Given the description of an element on the screen output the (x, y) to click on. 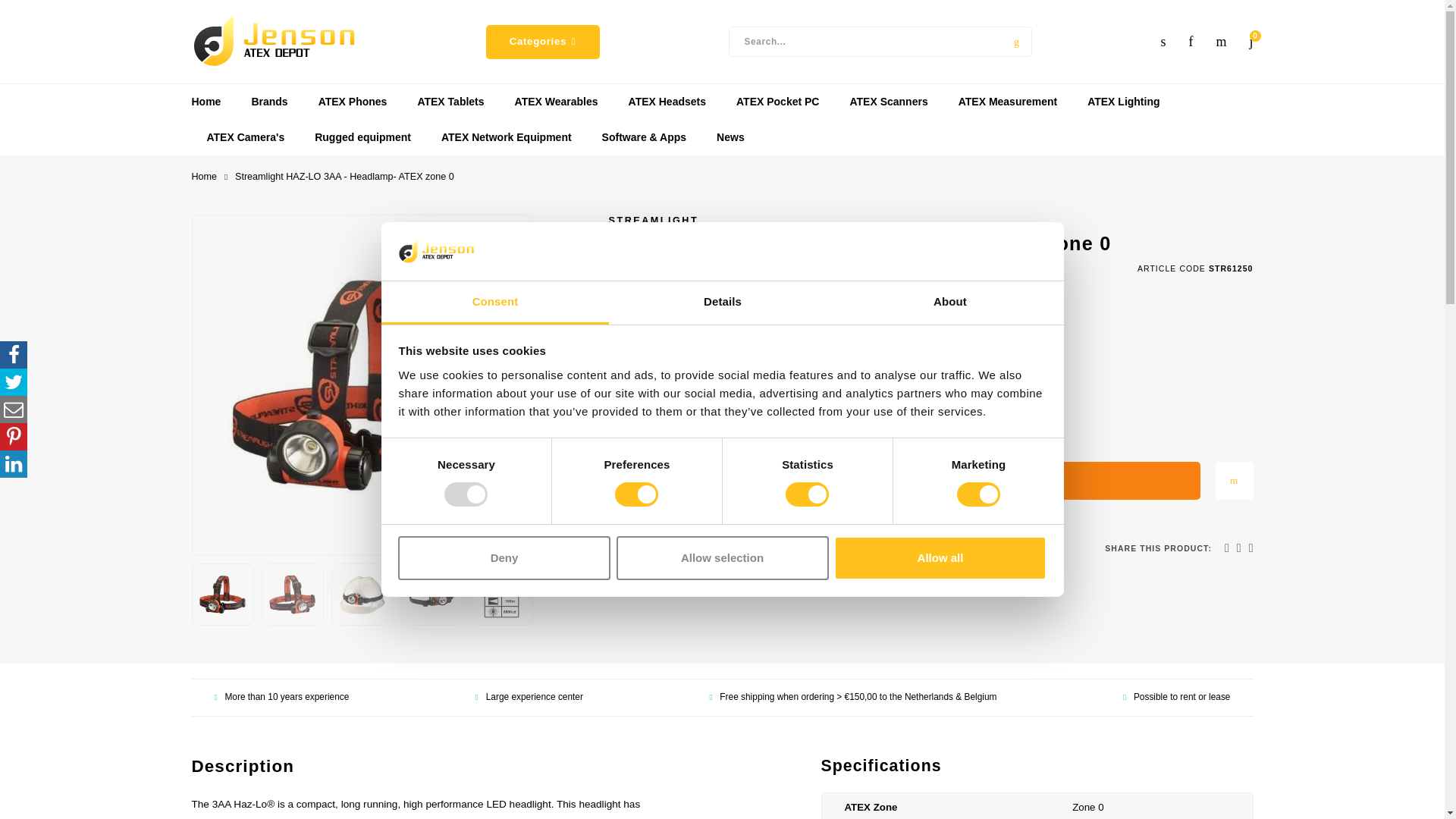
1 (639, 480)
Consent (494, 302)
Details (721, 302)
About (948, 302)
